Given the description of an element on the screen output the (x, y) to click on. 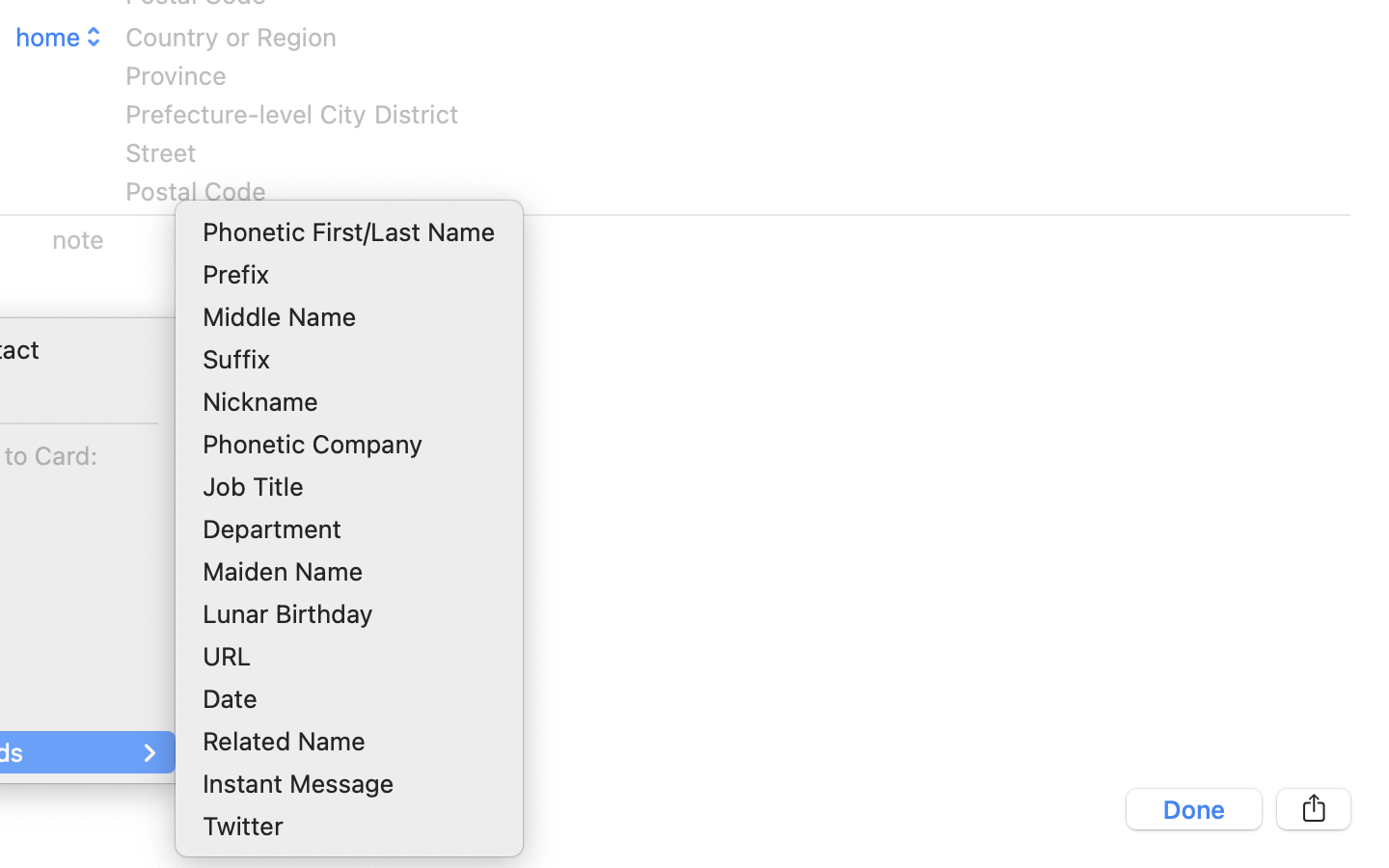
home Element type: AXStaticText (60, 36)
note Element type: AXStaticText (78, 238)
